Given the description of an element on the screen output the (x, y) to click on. 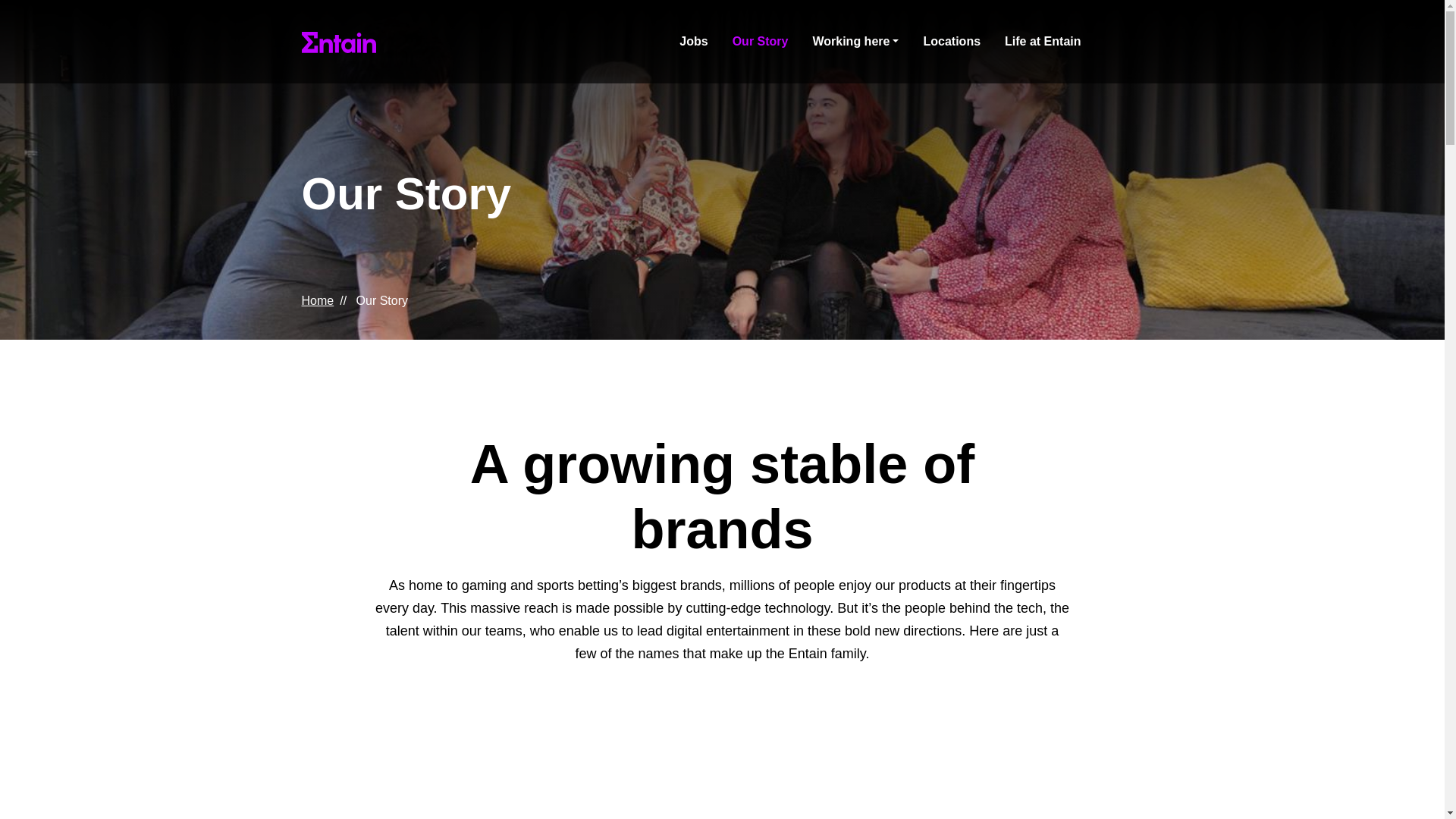
Working here (855, 41)
Our Story (760, 41)
Locations (952, 41)
Life at Entain (1042, 41)
Jobs (692, 41)
Home (317, 300)
